Given the description of an element on the screen output the (x, y) to click on. 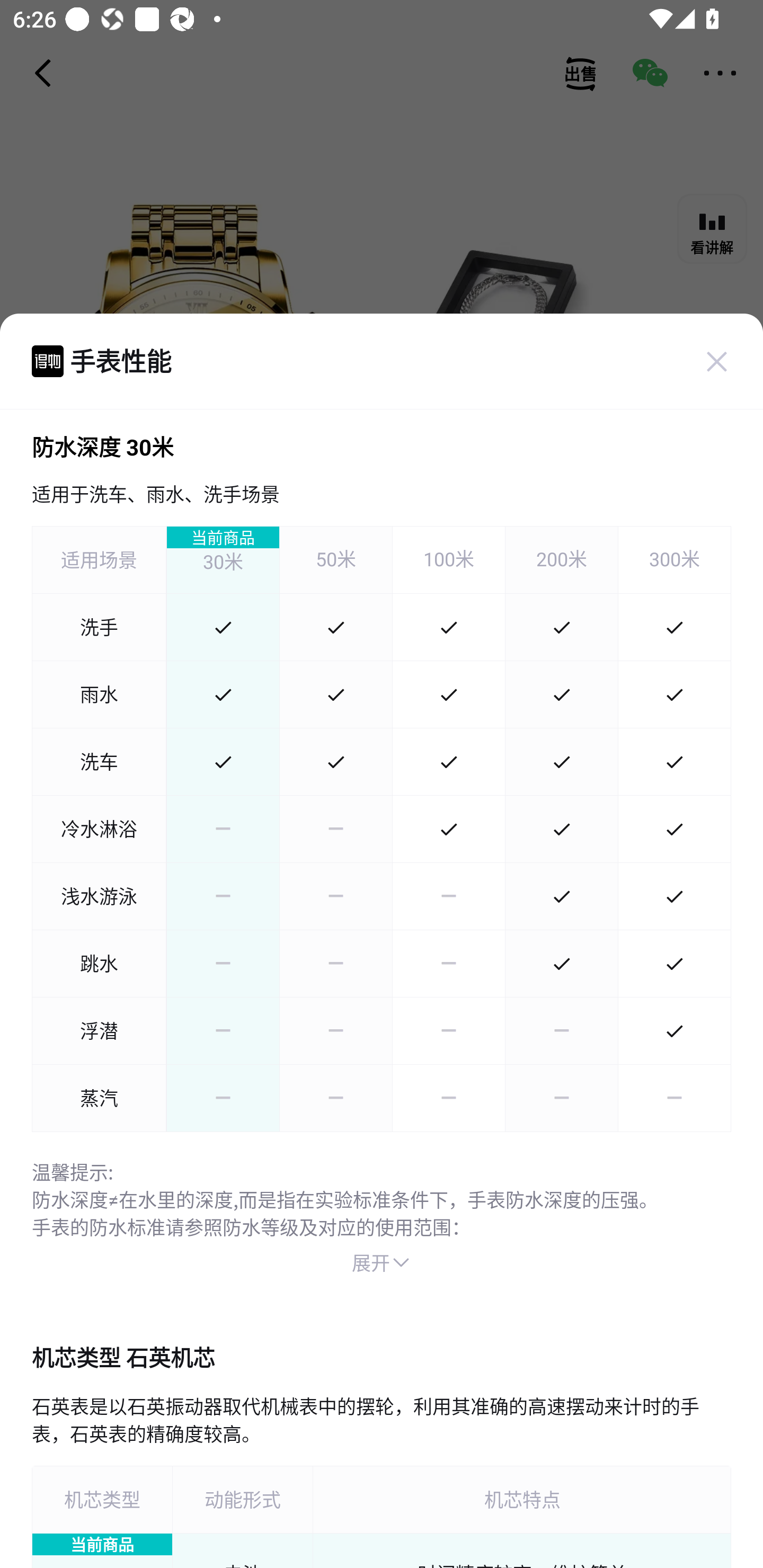
 (716, 361)
展开 (381, 1262)
